Given the description of an element on the screen output the (x, y) to click on. 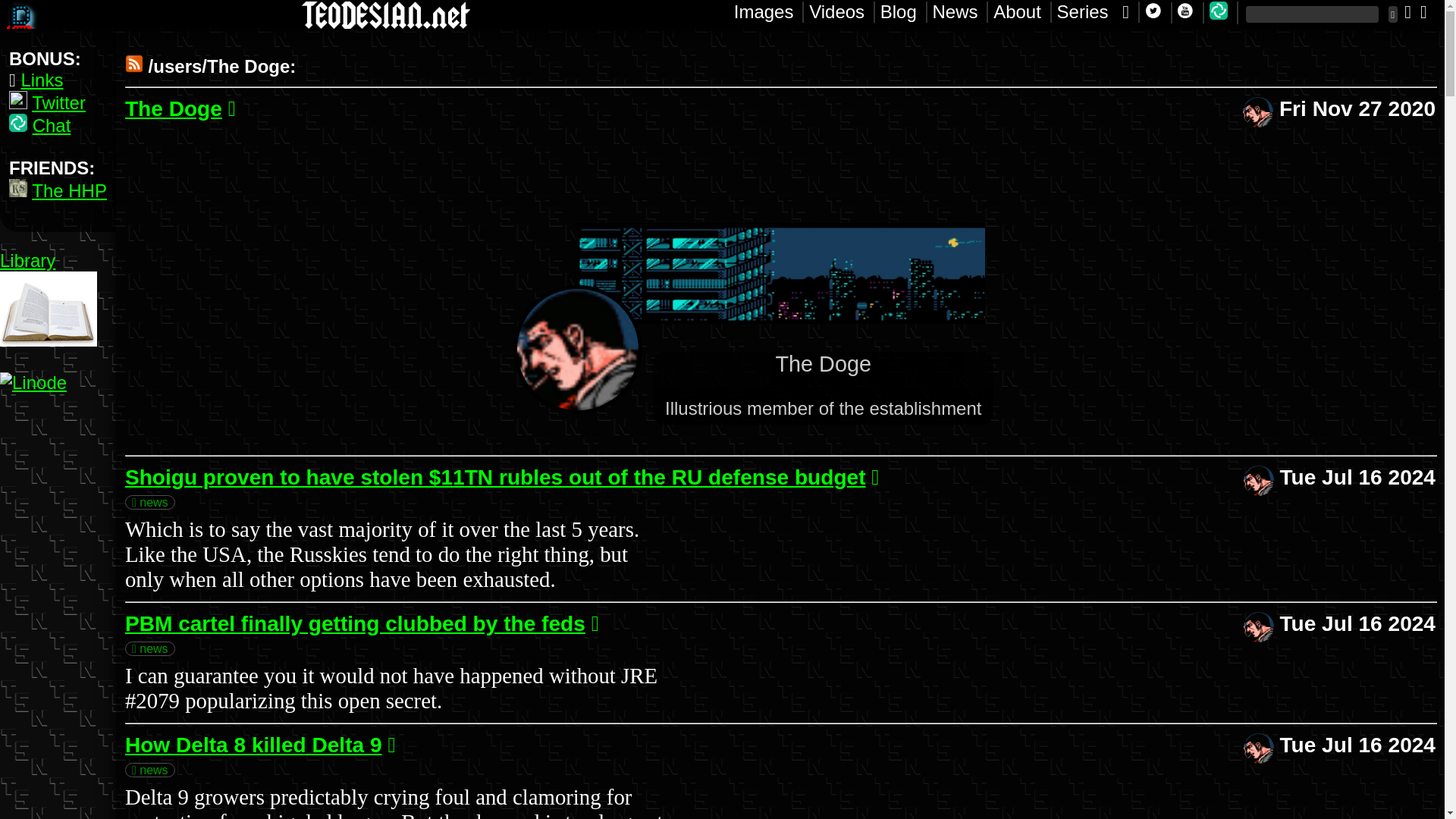
News (959, 11)
Images (769, 11)
Approved Propaganda from the Ministry of Family Values (41, 79)
shittr (58, 102)
Your Brain is now Liquid (386, 14)
Library (27, 260)
Matrix Chat (1224, 12)
How Delta 8 killed Delta 9 (253, 744)
Blog (903, 11)
The Doge (173, 108)
Twitter (769, 11)
The D on my Grave stands for... DRACULA! (58, 102)
Series (21, 14)
